Given the description of an element on the screen output the (x, y) to click on. 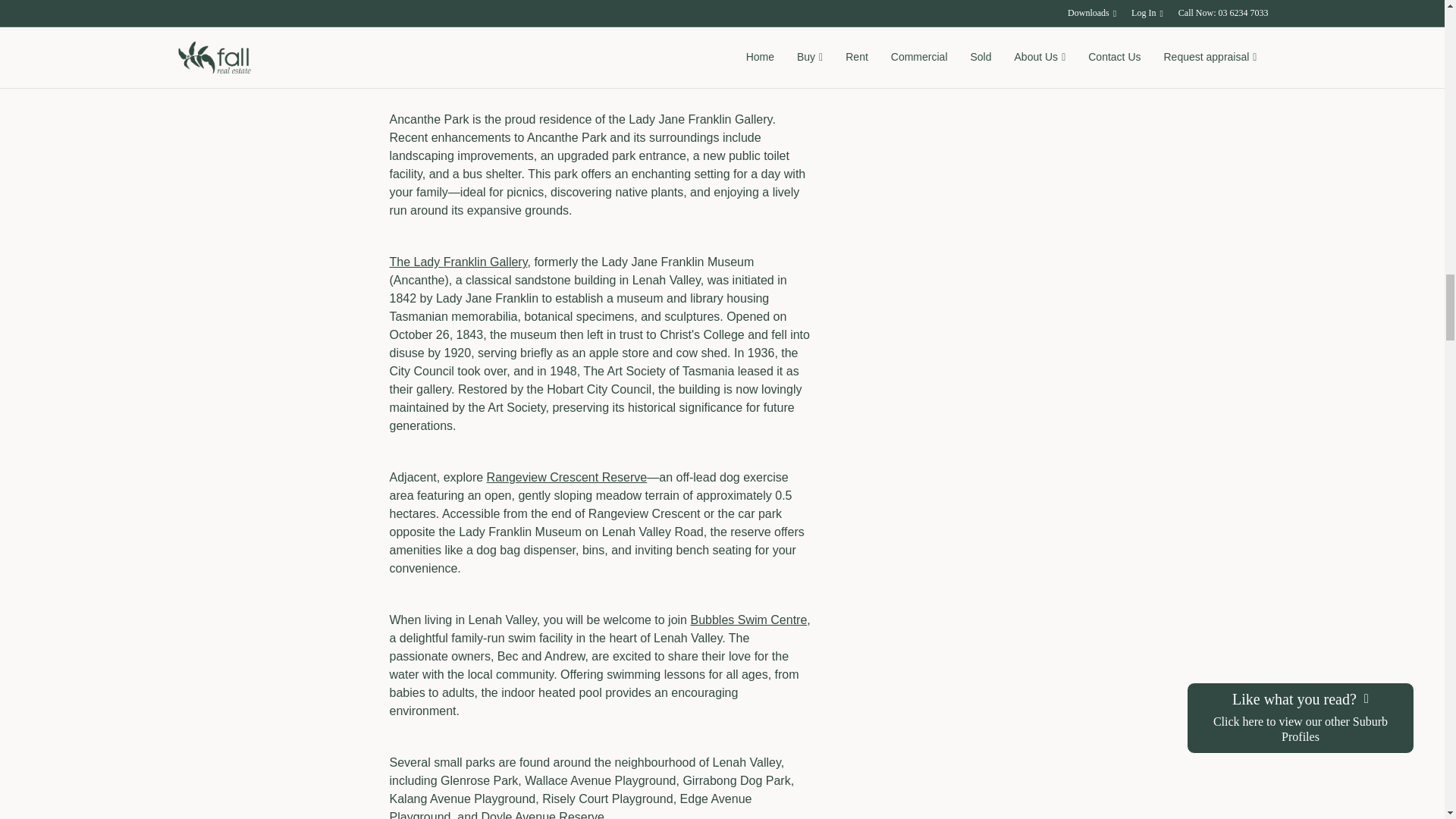
Bubbles Swim Centre (748, 619)
Rangeview Crescent Reserve (566, 477)
The Lady Franklin Gallery (458, 261)
